Given the description of an element on the screen output the (x, y) to click on. 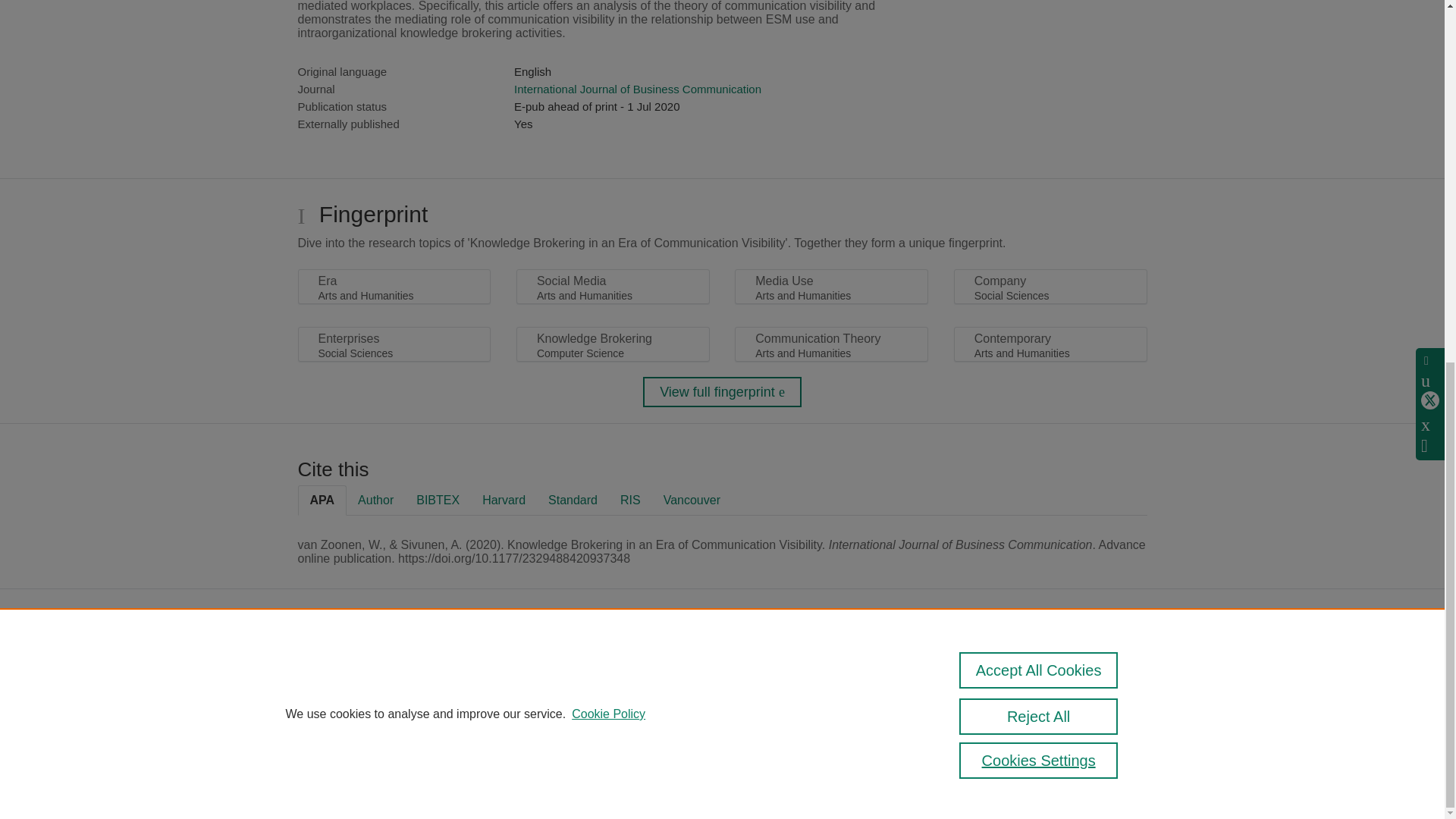
Scopus (652, 664)
Cookies Settings (591, 760)
Log in to Pure (584, 781)
Pure (620, 664)
International Journal of Business Communication (637, 88)
Elsevier B.V. (764, 685)
use of cookies (614, 739)
View full fingerprint (722, 391)
